Given the description of an element on the screen output the (x, y) to click on. 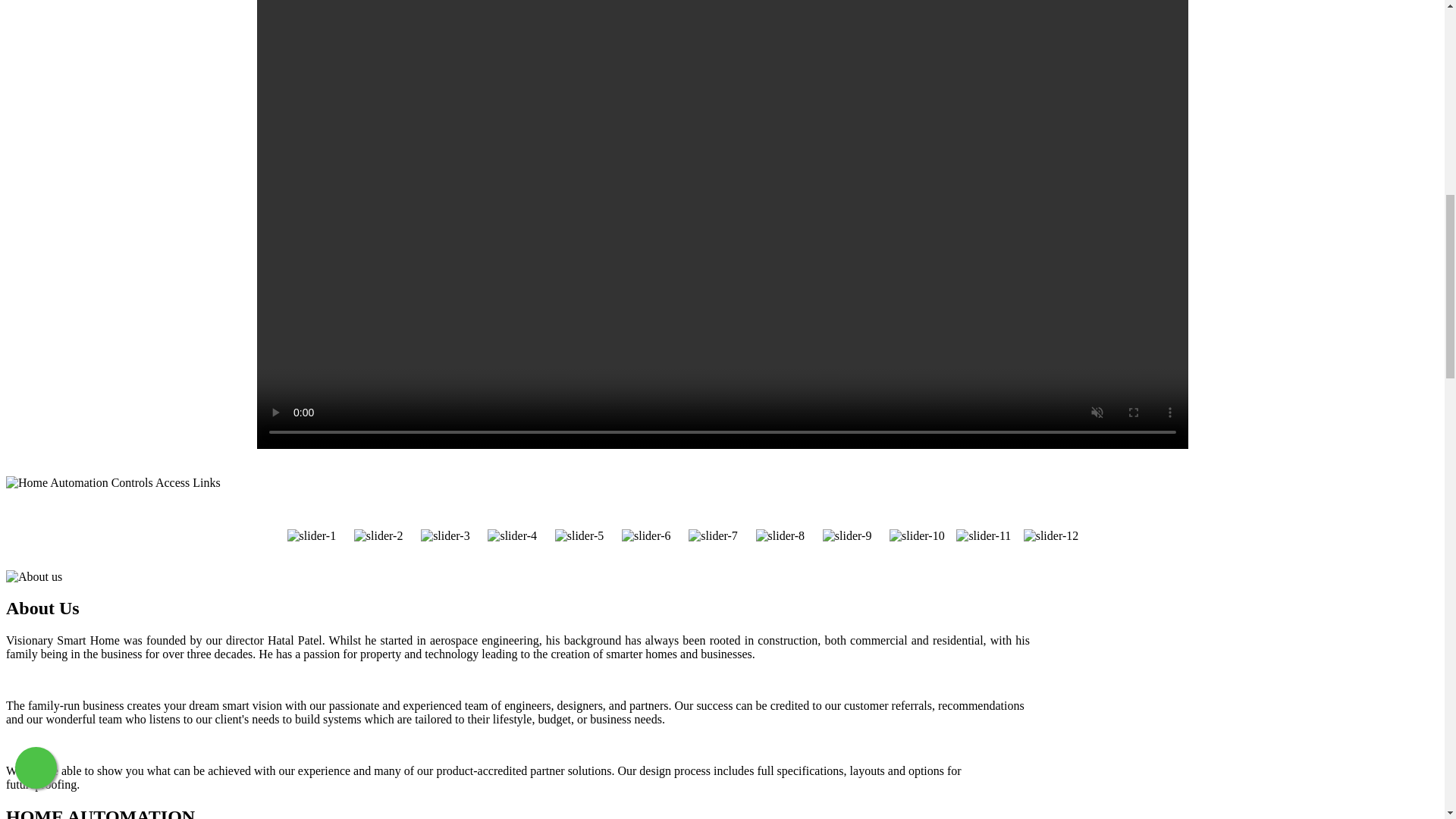
About Us (517, 608)
